Given the description of an element on the screen output the (x, y) to click on. 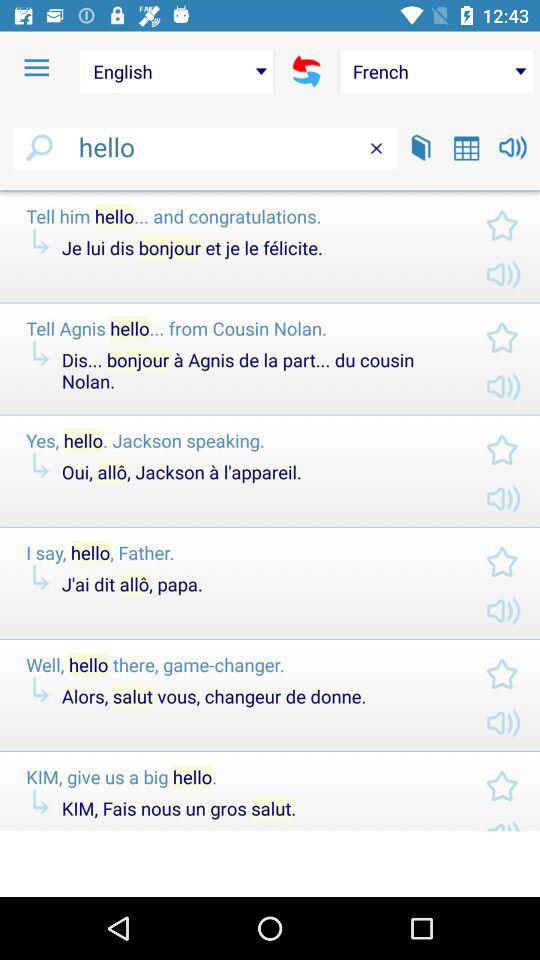
play (512, 147)
